Given the description of an element on the screen output the (x, y) to click on. 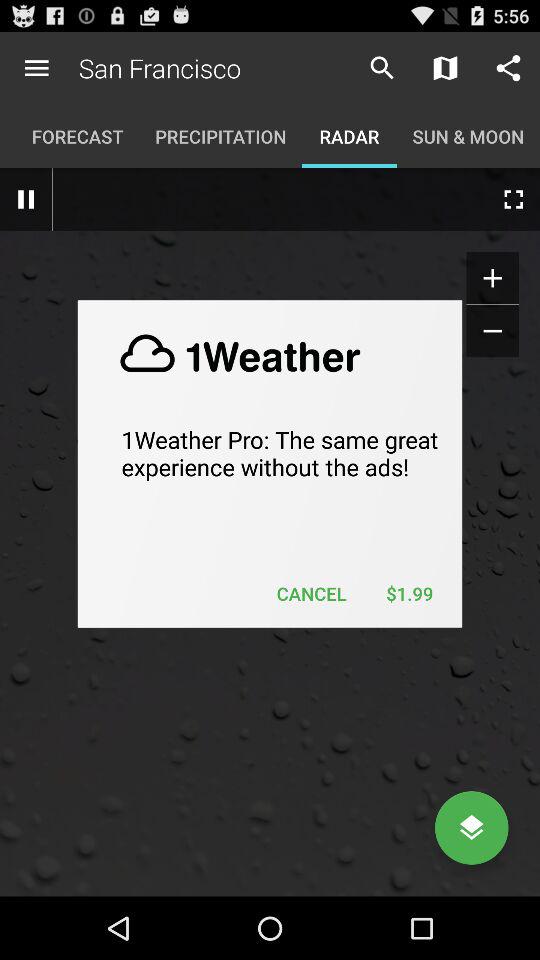
click the icon below 1weather pro the app (311, 593)
